Given the description of an element on the screen output the (x, y) to click on. 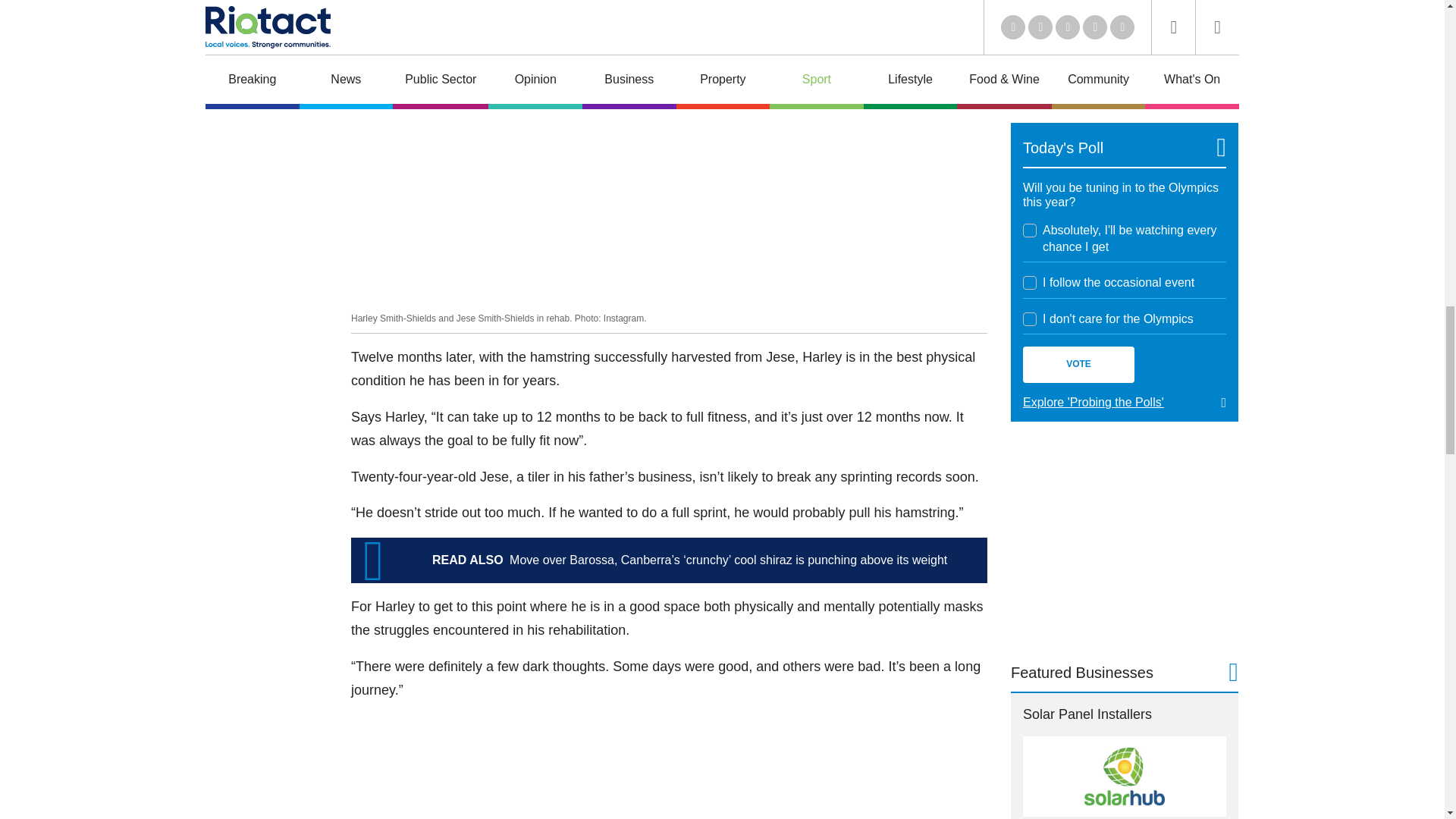
2045 (1029, 318)
2044 (1029, 282)
   Vote    (1078, 364)
Zango Sales (1124, 49)
2043 (1029, 230)
